Given the description of an element on the screen output the (x, y) to click on. 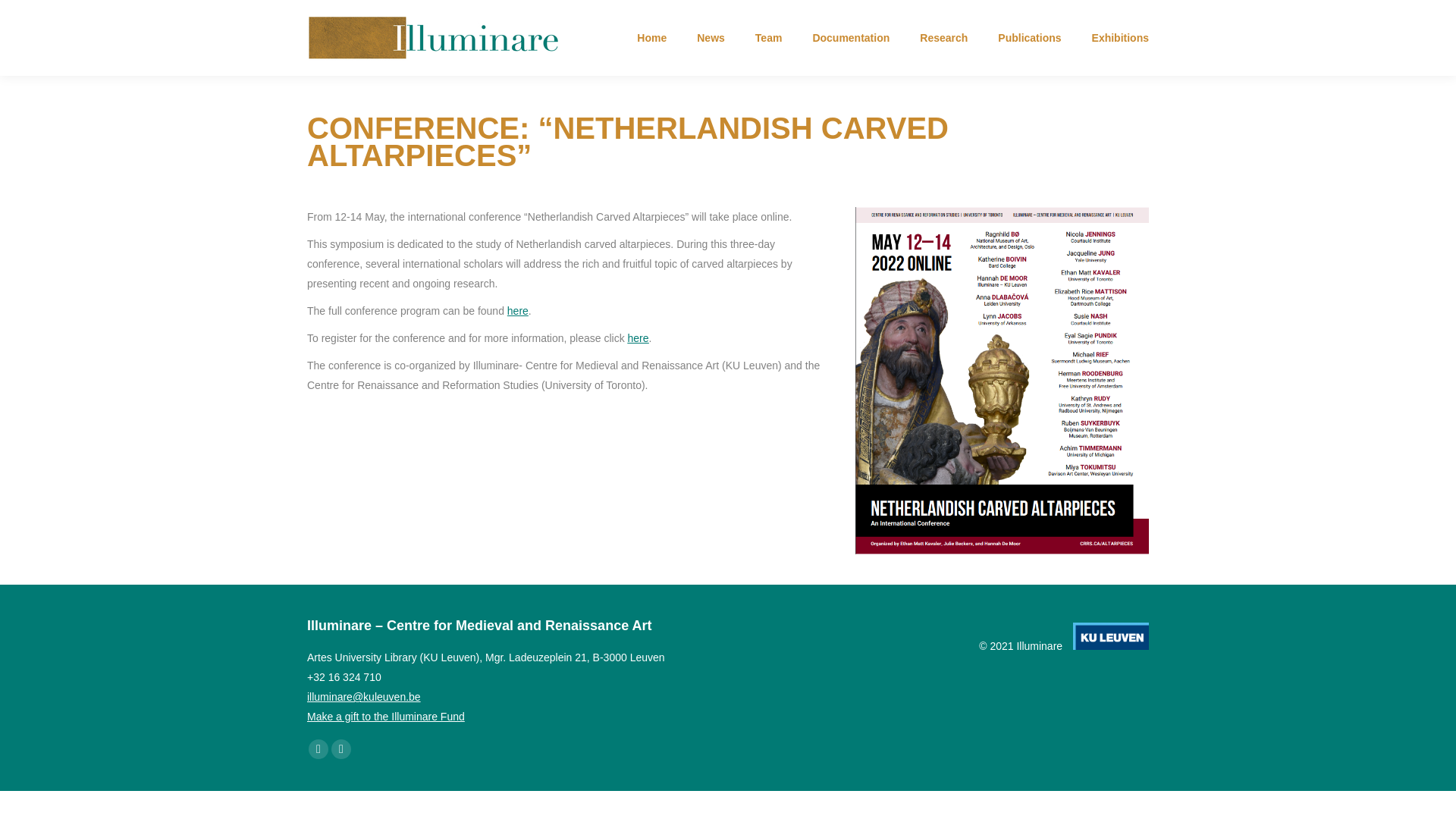
Facebook (318, 749)
Publications (1029, 37)
Instagram (340, 749)
Documentation (850, 37)
here (517, 310)
Exhibitions (1120, 37)
Facebook (318, 749)
Make a gift to the Illuminare Fund (385, 716)
Instagram (340, 749)
here (638, 337)
